Given the description of an element on the screen output the (x, y) to click on. 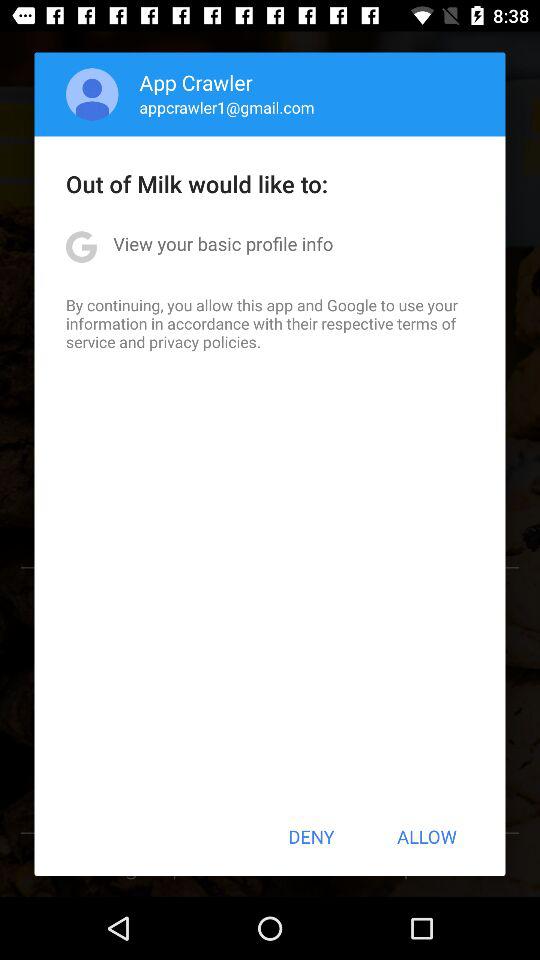
flip until deny icon (311, 836)
